Given the description of an element on the screen output the (x, y) to click on. 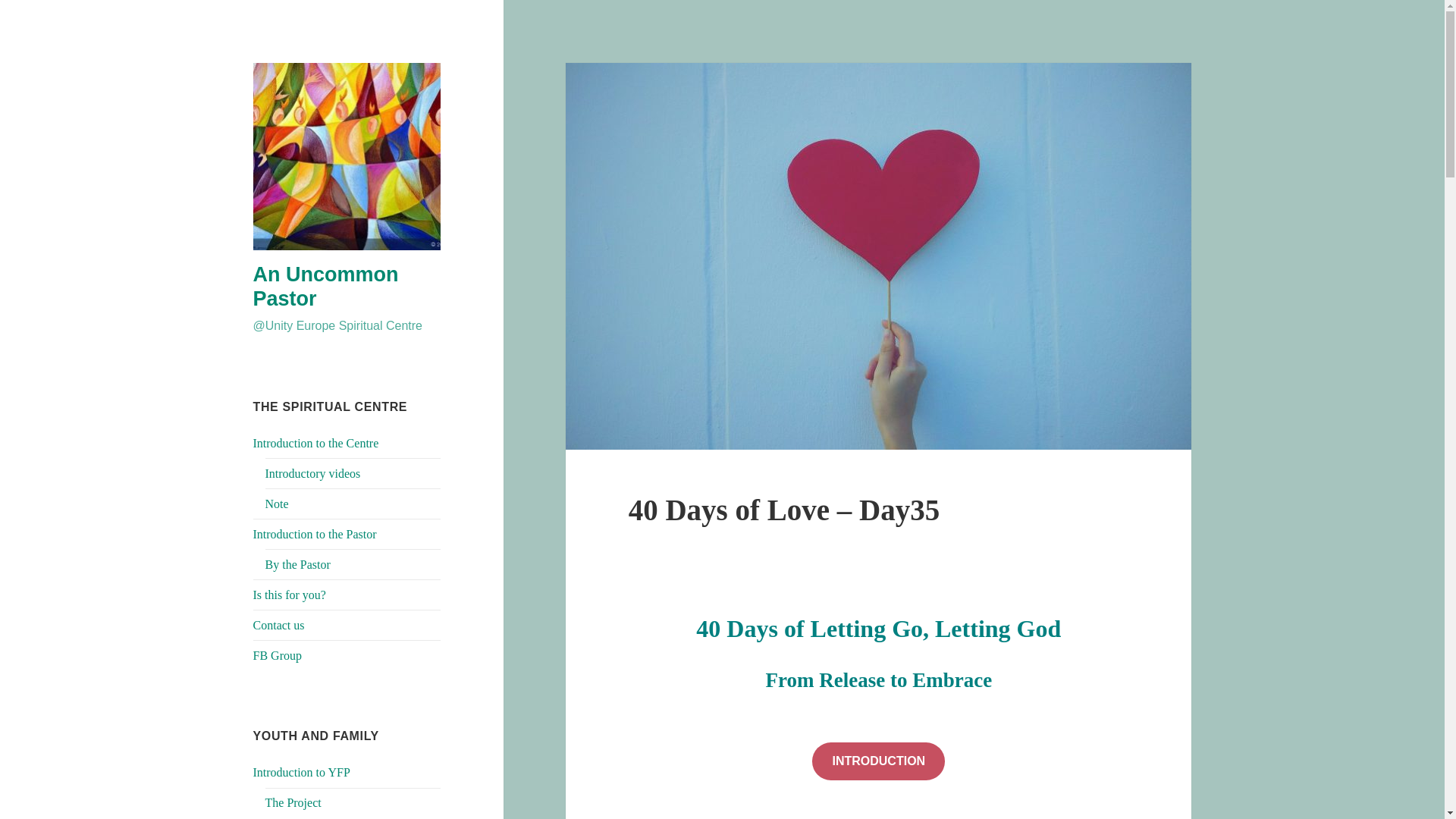
The Project (292, 802)
Introduction to YFP (301, 771)
INTRODUCTION (878, 761)
FB Group (277, 655)
Contact us (278, 625)
An Uncommon Pastor (325, 286)
Introductory videos (312, 472)
By the Pastor (297, 563)
Introduction to the Centre (315, 442)
Introduction to the Pastor (315, 533)
Is this for you? (289, 594)
Note (276, 503)
